Given the description of an element on the screen output the (x, y) to click on. 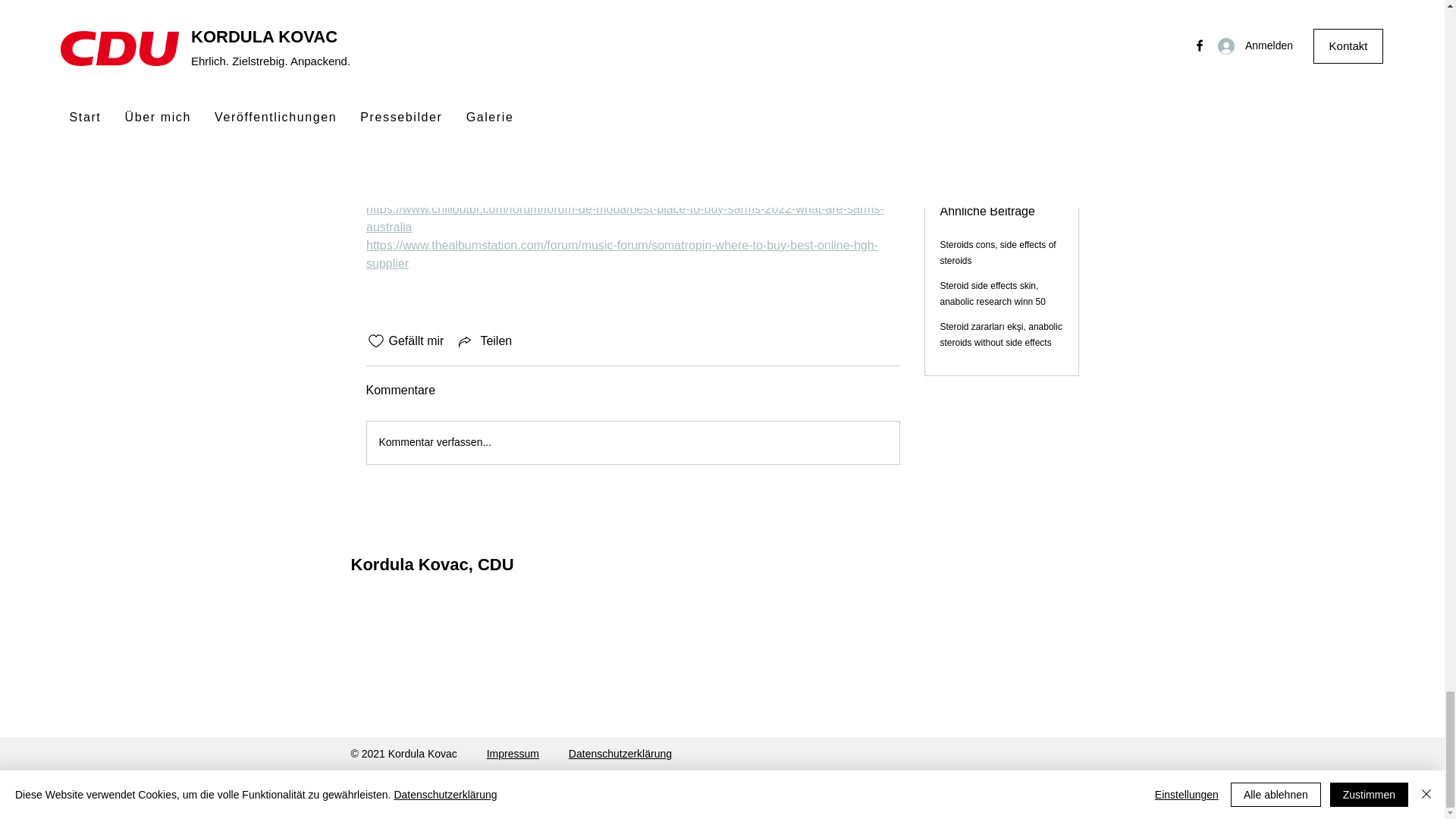
Kommentar verfassen... (632, 442)
Teilen (483, 341)
Impressum (512, 753)
Kordula Kovac, CDU (431, 564)
